Given the description of an element on the screen output the (x, y) to click on. 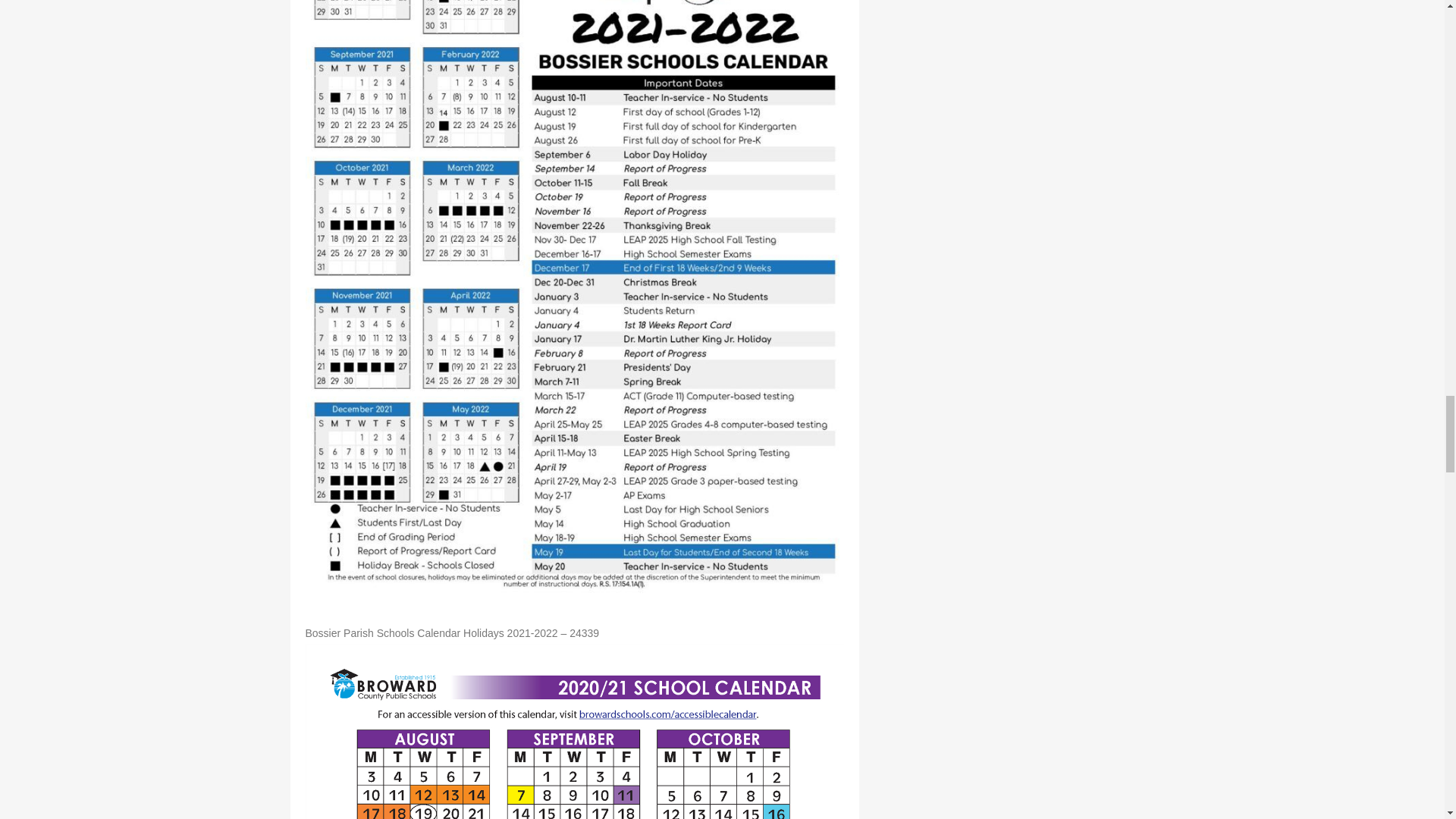
Osceola Schools Calendar 2022-23 - Blank Calendar 2022 (573, 731)
